Given the description of an element on the screen output the (x, y) to click on. 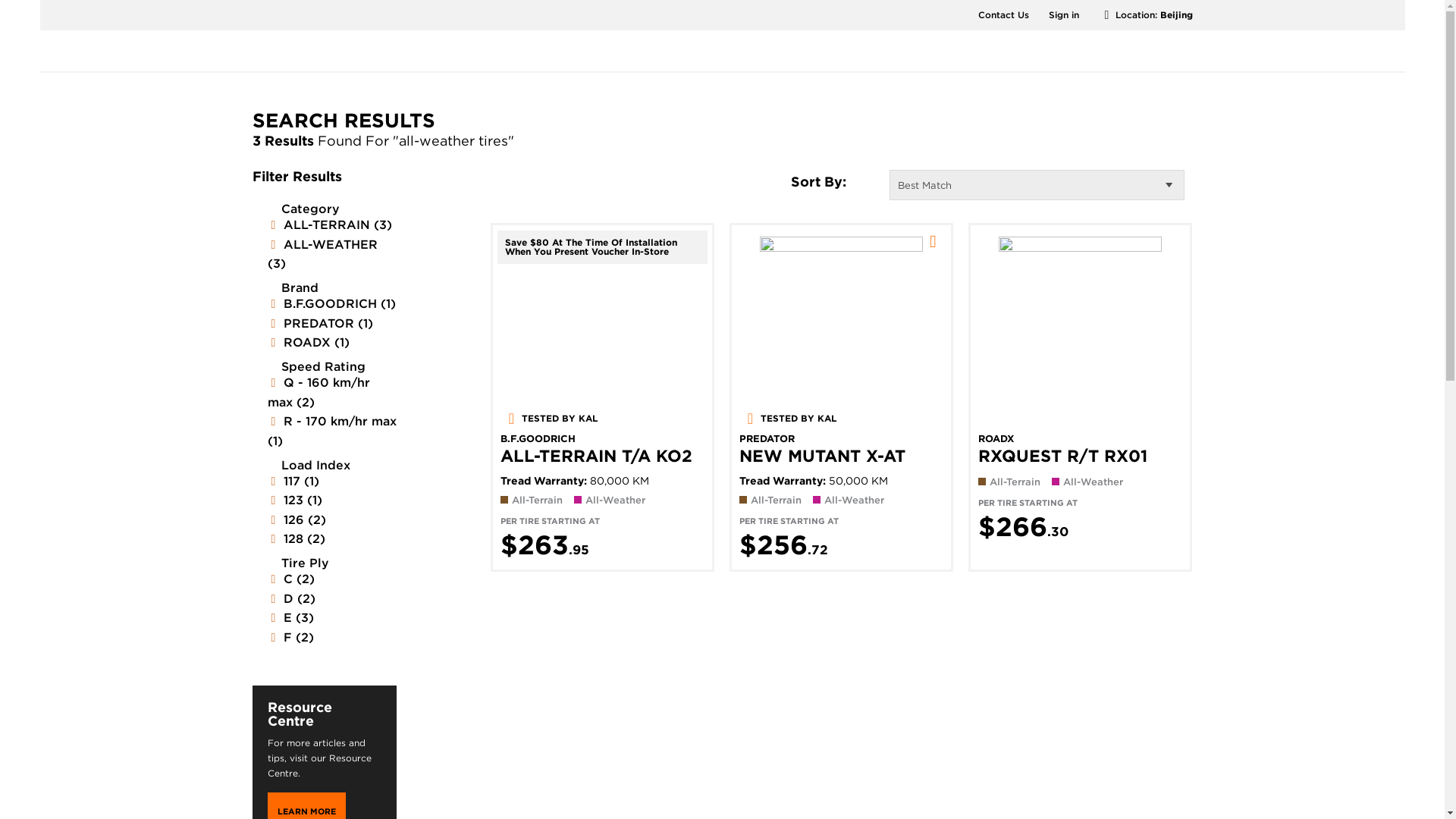
Refine by:ALL-WEATHER (321, 254)
Refine by:ALL-TERRAIN (328, 224)
Sign in (1063, 14)
Refine by:PREDATOR (319, 323)
Contact Us (1003, 14)
Refine by:ROADX (307, 341)
Sign in (1063, 14)
Beijing (1176, 14)
Refine by:117 (292, 481)
Refine by:B.F.GOODRICH (330, 303)
